Given the description of an element on the screen output the (x, y) to click on. 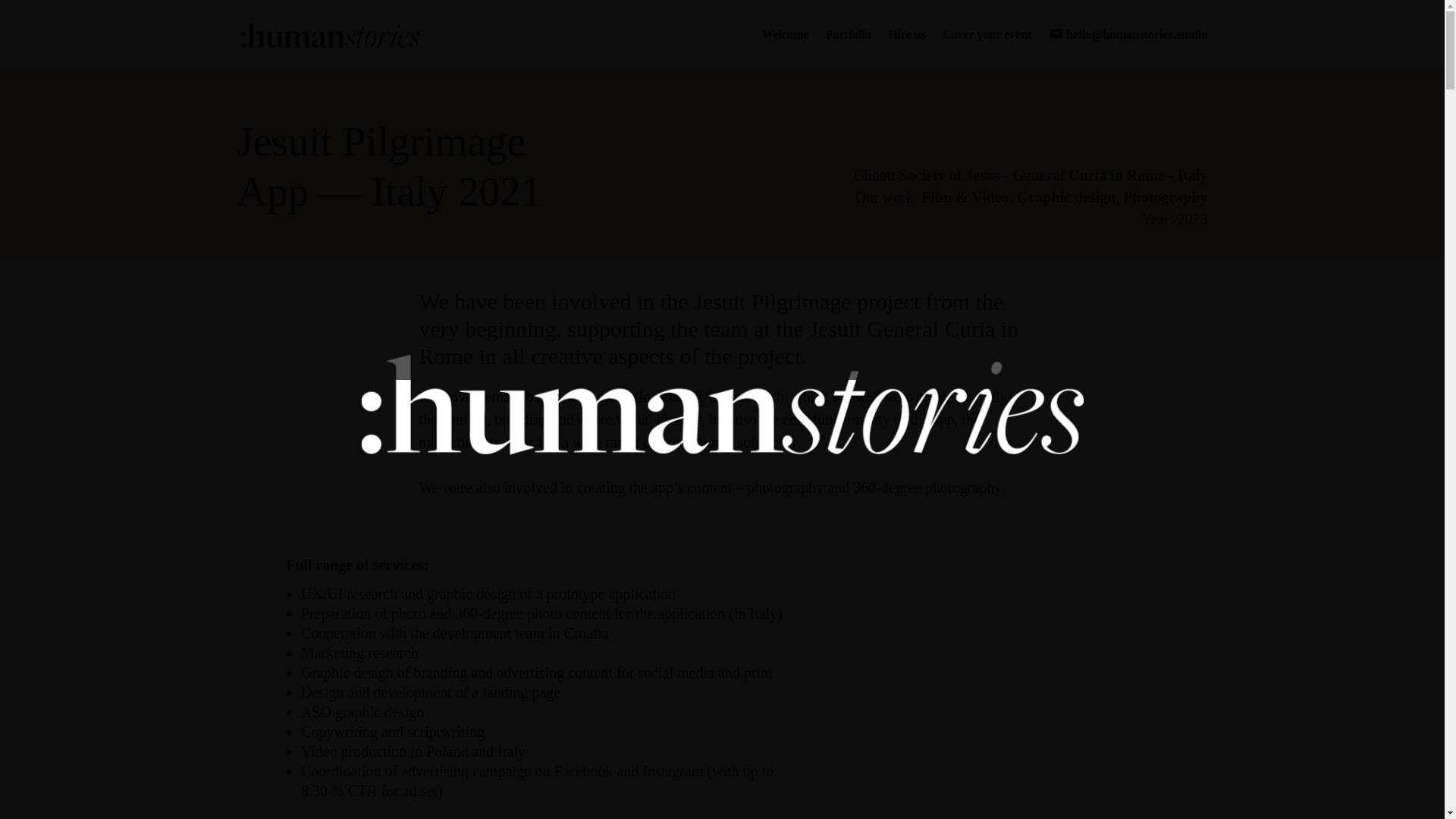
Hire us (907, 45)
Photography (1164, 197)
Graphic design (1066, 197)
Portfolio (847, 45)
Welcome (784, 45)
Cover your event (987, 45)
Society of Jesus - General Curia in Rome - Italy (1052, 175)
